Given the description of an element on the screen output the (x, y) to click on. 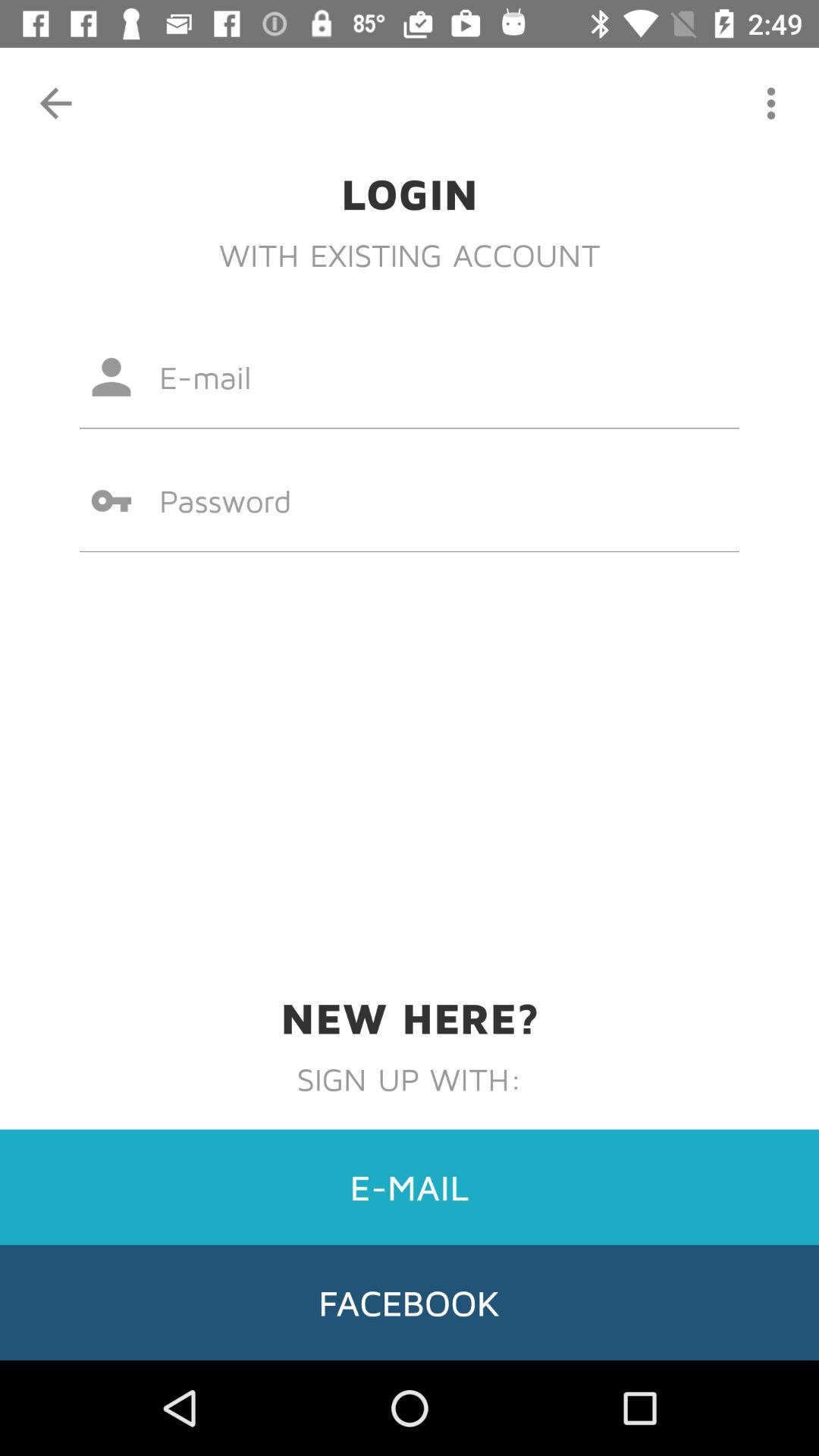
select the icon below with existing account icon (409, 376)
